Given the description of an element on the screen output the (x, y) to click on. 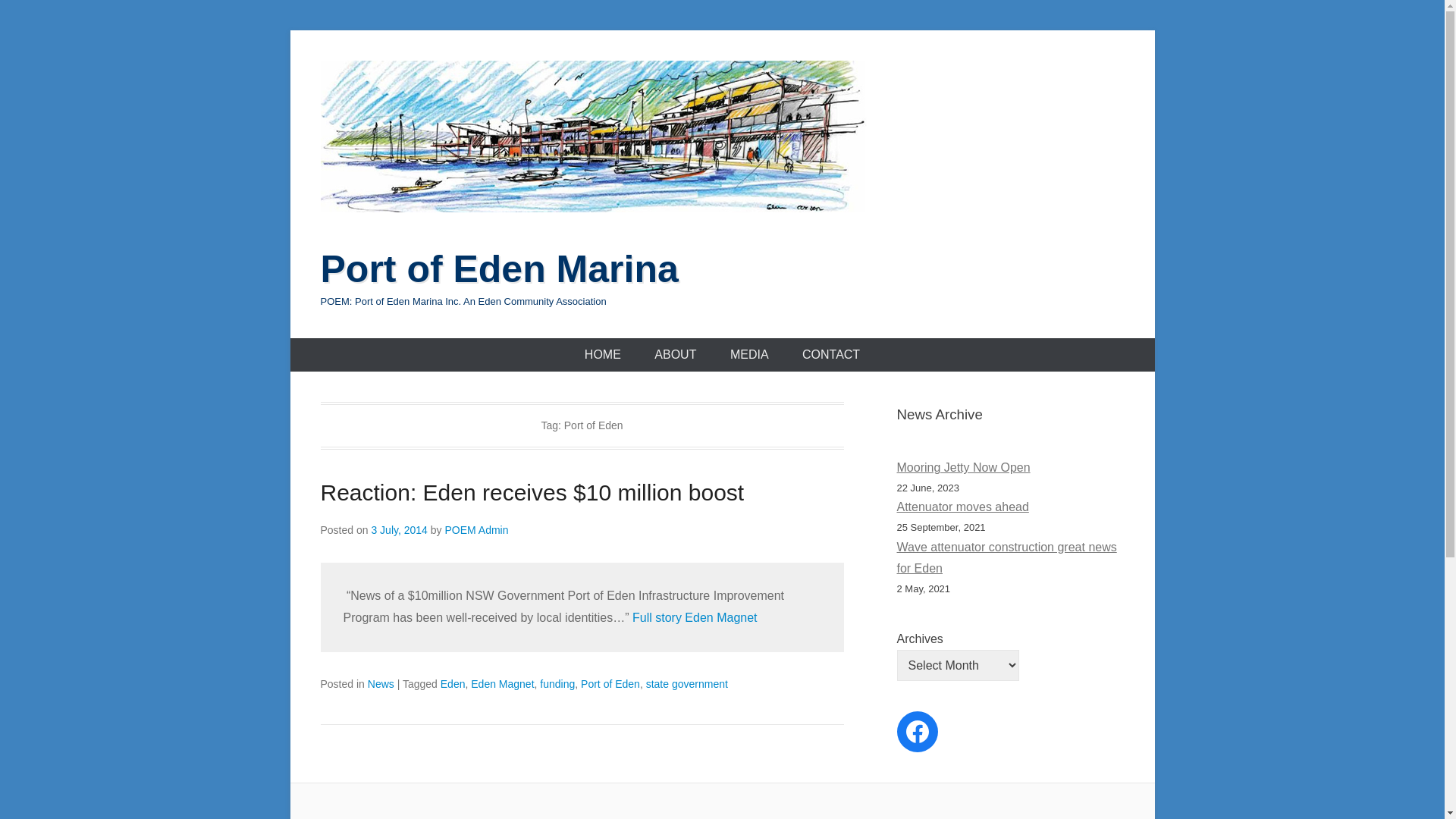
MEDIA Element type: text (749, 354)
funding Element type: text (556, 683)
3 July, 2014 Element type: text (398, 530)
POEM Admin Element type: text (476, 530)
Port of Eden Marina Element type: text (498, 268)
Skip to content Element type: text (289, 29)
Wave attenuator construction great news for Eden Element type: text (1006, 557)
Reaction: Eden receives $10 million boost Element type: text (531, 492)
Find us on Facebook Element type: text (916, 731)
state government Element type: text (687, 683)
Mooring Jetty Now Open Element type: text (962, 467)
Full story Eden Magnet Element type: text (694, 617)
Attenuator moves ahead Element type: text (962, 506)
Port of Eden Element type: text (610, 683)
HOME Element type: text (602, 354)
Eden Magnet Element type: text (501, 683)
News Element type: text (380, 683)
ABOUT Element type: text (675, 354)
Eden Element type: text (452, 683)
CONTACT Element type: text (831, 354)
